Given the description of an element on the screen output the (x, y) to click on. 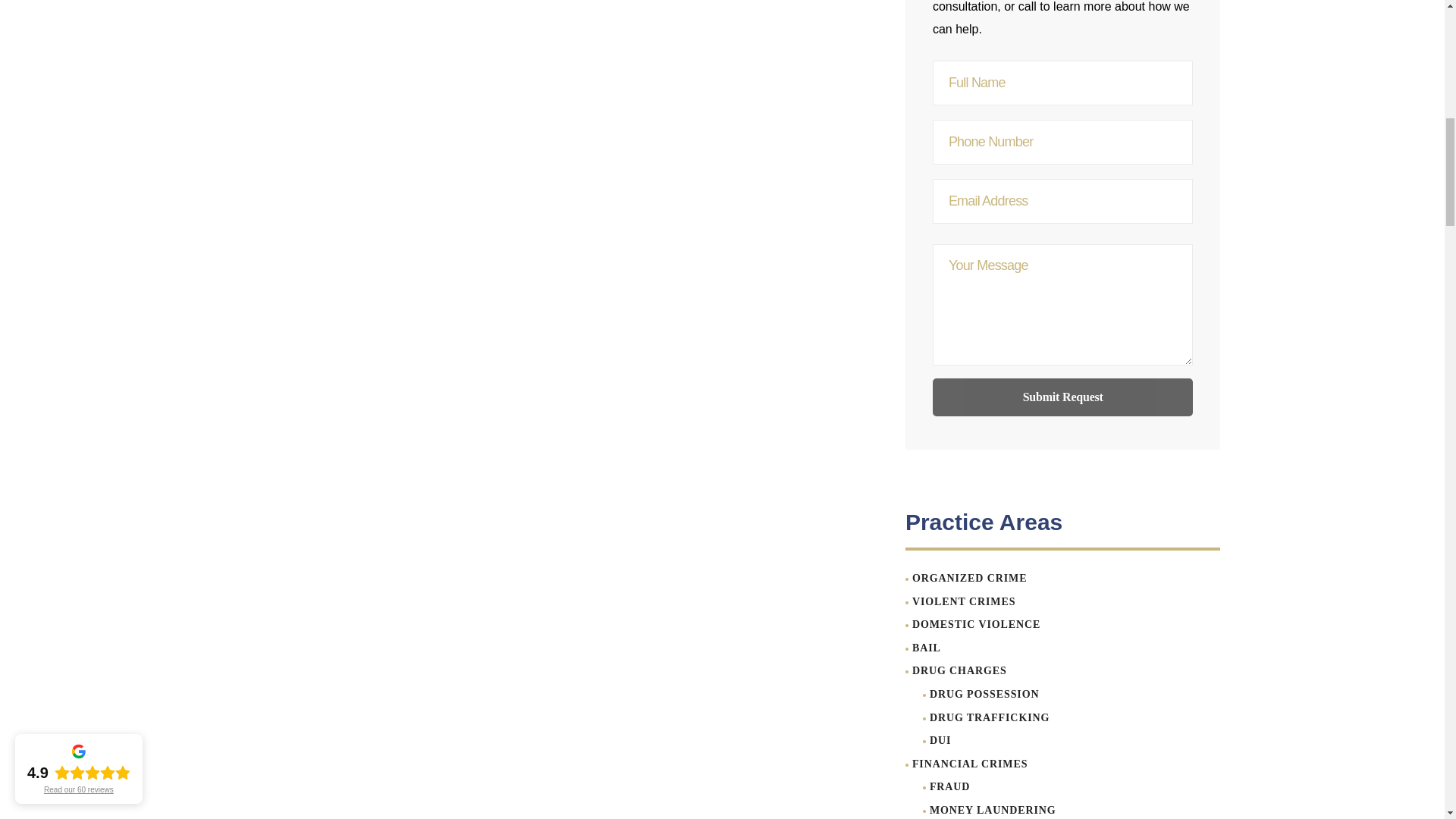
Submit Request (1063, 397)
